Given the description of an element on the screen output the (x, y) to click on. 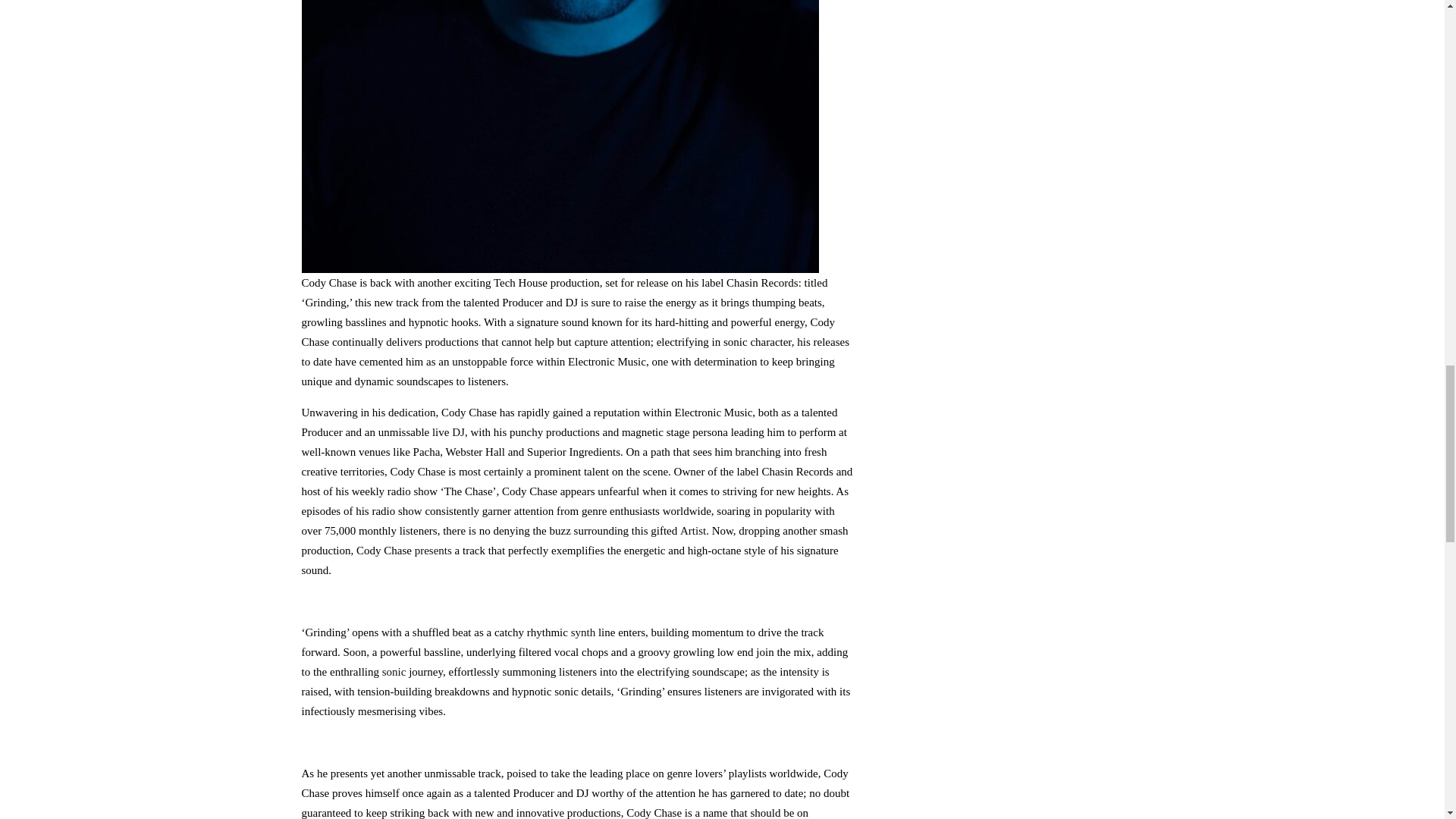
synth (582, 632)
presents (432, 550)
synth (582, 632)
Artist (692, 530)
presents (432, 550)
sonic (393, 671)
Artist (692, 530)
sonic (393, 671)
